Given the description of an element on the screen output the (x, y) to click on. 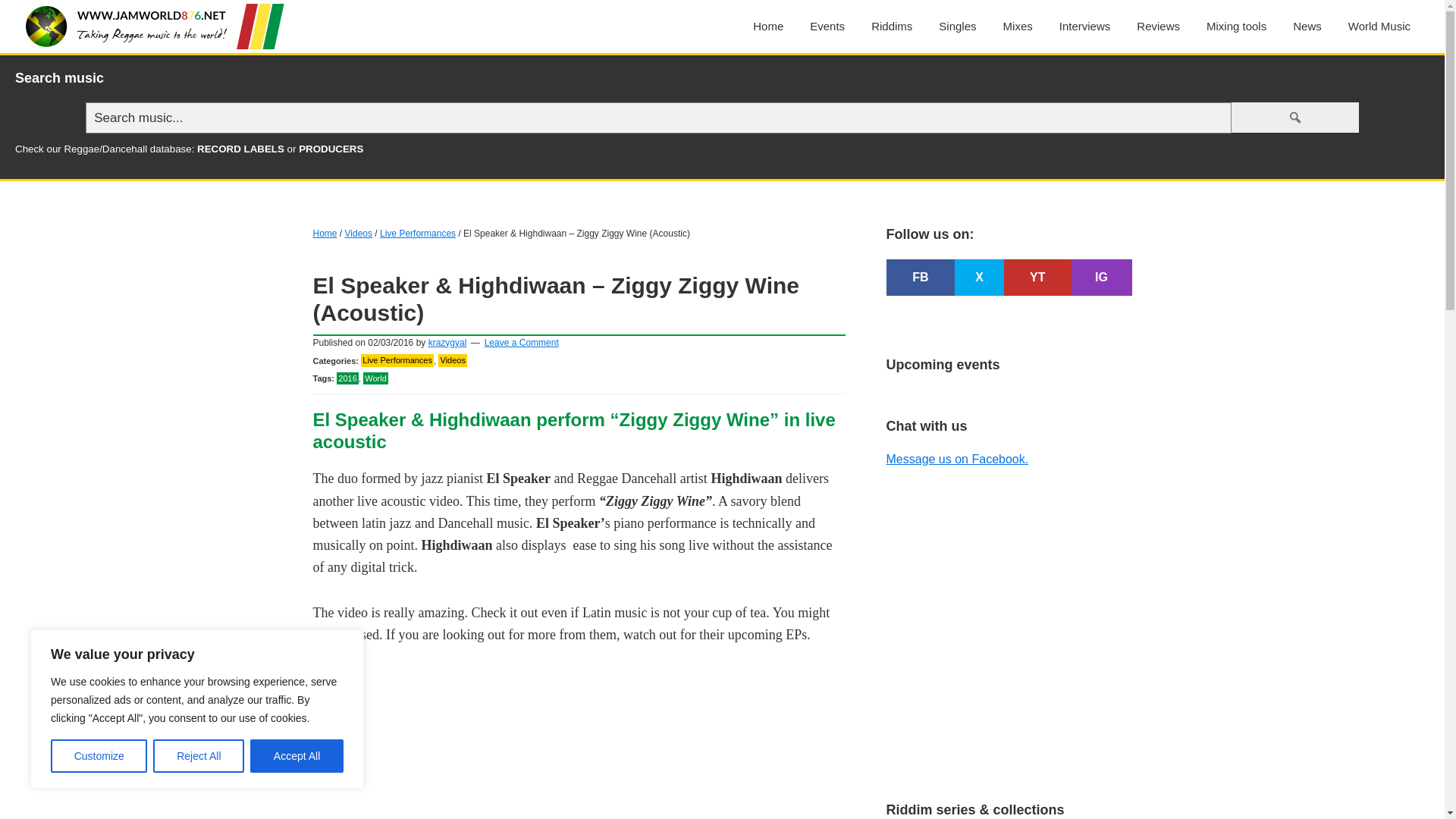
Reviews (1158, 25)
Singles (957, 25)
Search (1294, 117)
Chatbox (1008, 575)
Customize (98, 756)
Mixes (1017, 25)
Reggae and Dancehall producers (330, 148)
Interviews (1085, 25)
Reggae and Dancehall record labels (239, 148)
Youtube (1037, 277)
